Given the description of an element on the screen output the (x, y) to click on. 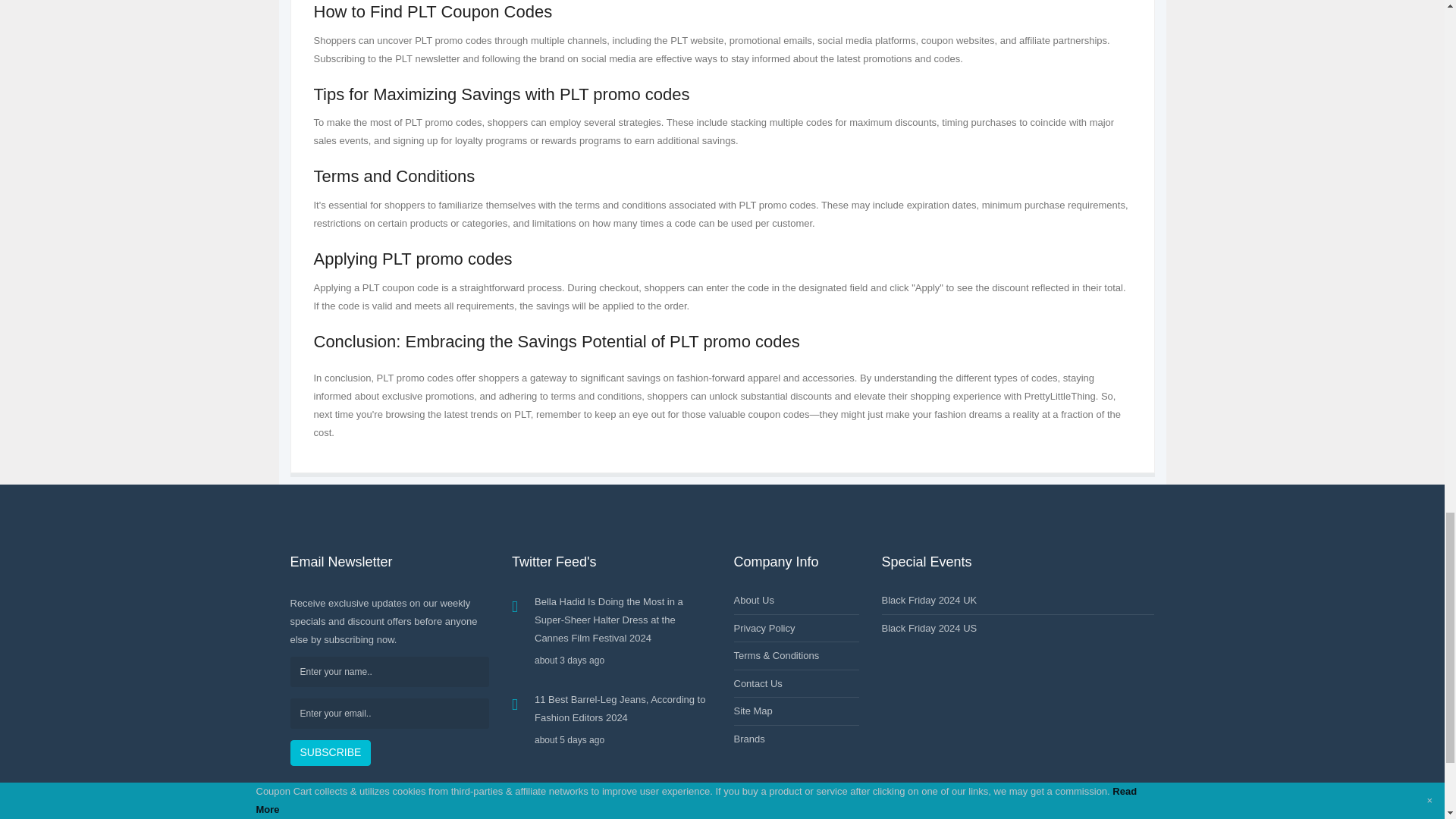
about 3 days ago (622, 660)
Privacy Policy (763, 627)
Contact Us (758, 683)
Black Friday 2024 UK (928, 600)
Brands (749, 738)
Site Map (753, 710)
Black Friday 2024 US (928, 627)
SUBSCRIBE (330, 752)
About Us (753, 600)
about 5 days ago (622, 740)
